Given the description of an element on the screen output the (x, y) to click on. 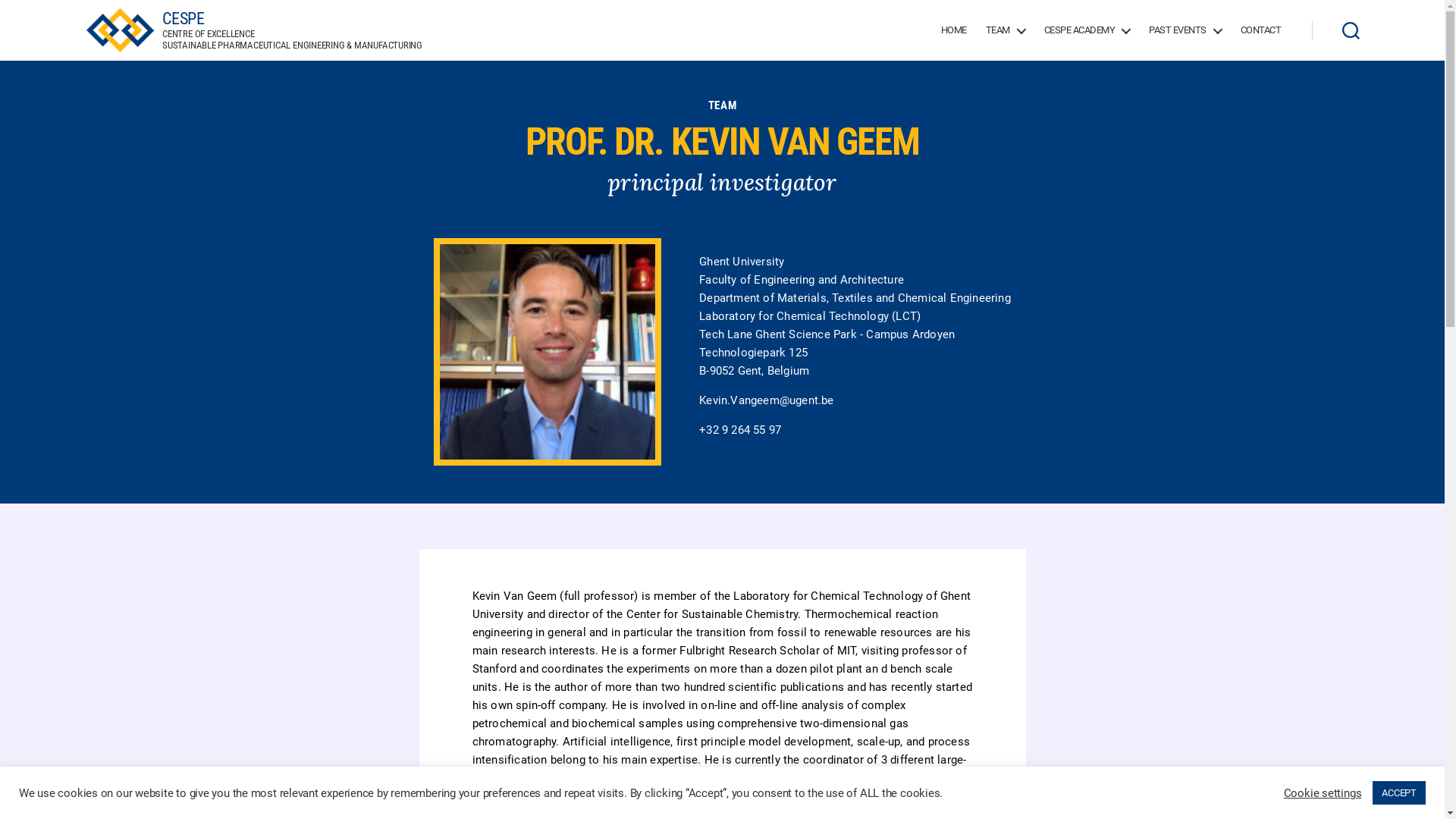
TEAM Element type: text (722, 105)
CONTACT Element type: text (1260, 30)
ACCEPT Element type: text (1398, 792)
CESPE ACADEMY Element type: text (1087, 30)
PAST EVENTS Element type: text (1184, 30)
Cookie settings Element type: text (1322, 792)
TEAM Element type: text (1005, 30)
HOME Element type: text (953, 30)
